Given the description of an element on the screen output the (x, y) to click on. 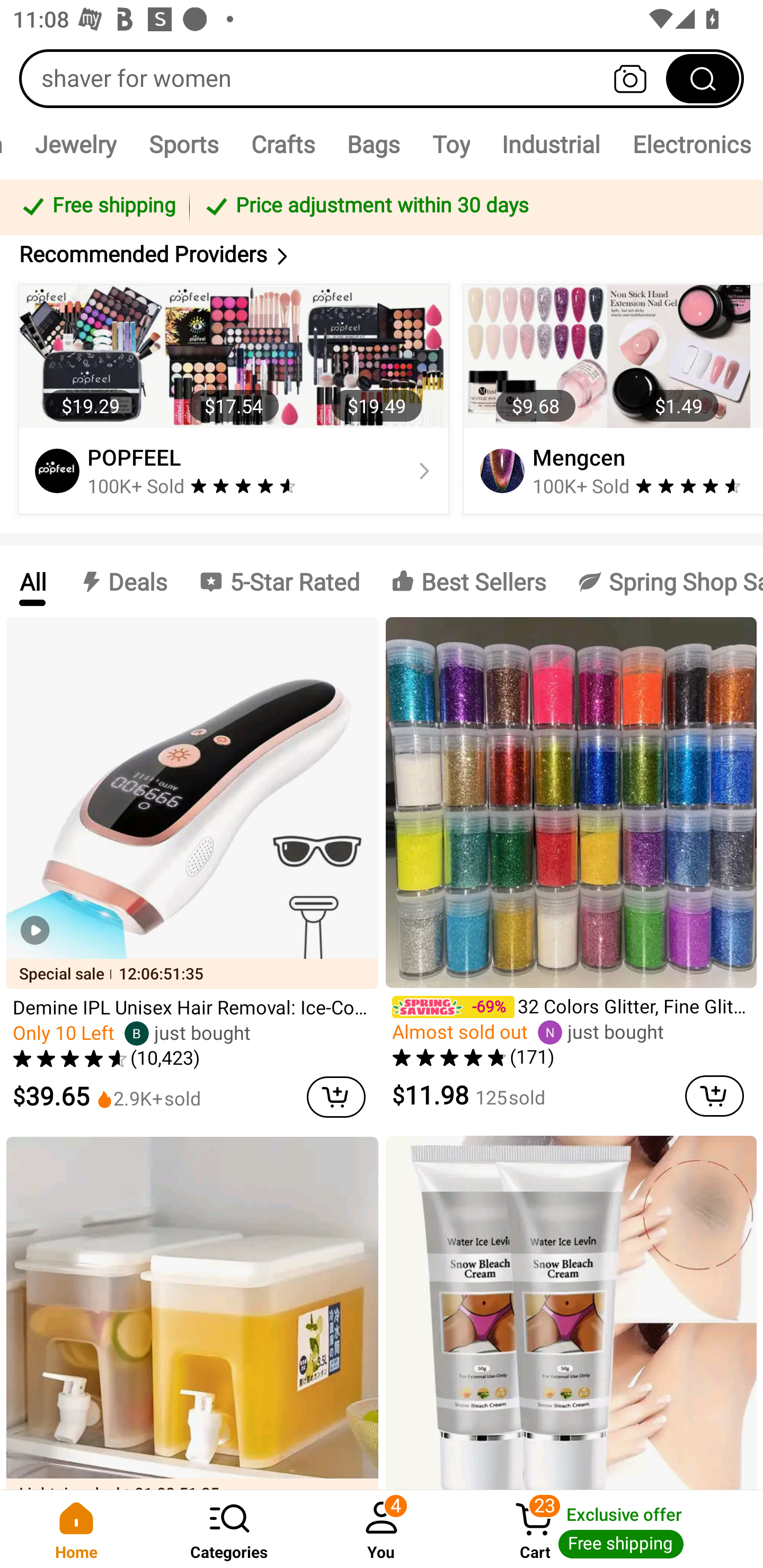
shaver for women (381, 78)
Jewelry (75, 144)
Sports (183, 144)
Crafts (283, 144)
Bags (373, 144)
Toy (450, 144)
Industrial (551, 144)
Electronics (689, 144)
Free shipping (97, 206)
Price adjustment within 30 days (472, 206)
Recommended Providers (381, 254)
$19.29 $17.54 $19.49 POPFEEL 100K+ Sold (233, 399)
$9.68 $1.49 Mengcen 100K+ Sold (610, 399)
All (32, 581)
Deals Deals Deals (122, 581)
5-Star Rated 5-Star Rated 5-Star Rated (279, 581)
Best Sellers Best Sellers Best Sellers (468, 581)
Spring Shop Save Spring Shop Save Spring Shop Save (662, 581)
cart delete (714, 1095)
cart delete (335, 1096)
Home (76, 1528)
Categories (228, 1528)
You 4 You (381, 1528)
Cart 23 Cart Exclusive offer (610, 1528)
